Given the description of an element on the screen output the (x, y) to click on. 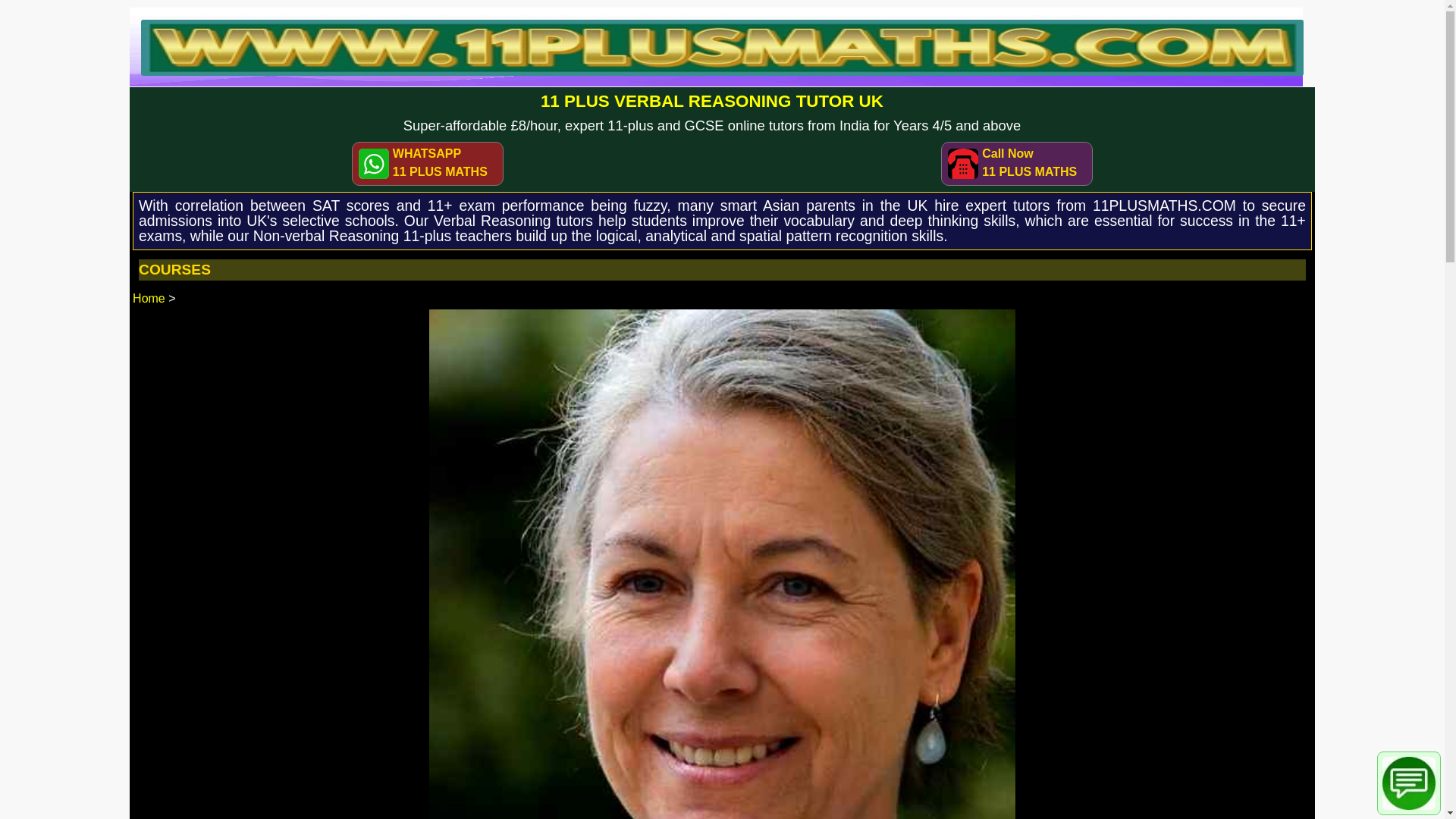
WHATSAPP
11 PLUS MATHS Element type: text (427, 162)
SUBMIT Element type: text (653, 309)
11 PLUS VERBAL REASONING TUTOR UK Element type: text (711, 100)
Home Element type: text (148, 297)
Call Now
11 PLUS MATHS Element type: text (1016, 162)
